Given the description of an element on the screen output the (x, y) to click on. 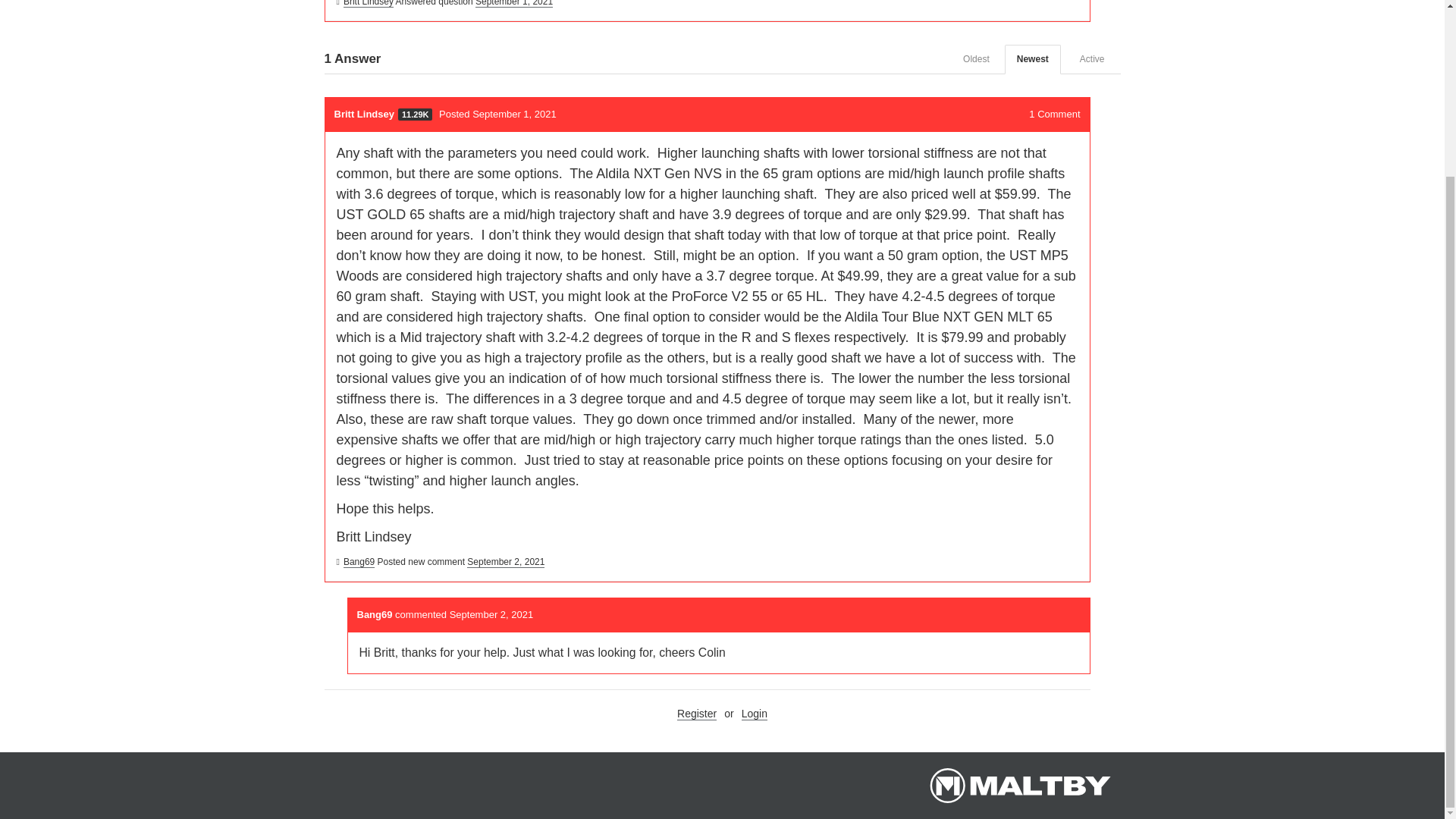
Reputation (414, 114)
Britt Lindsey (368, 3)
Ralph Maltby (1019, 785)
Active (1091, 59)
Bang69 (375, 614)
September 2, 2021 (505, 562)
September 1, 2021 (514, 3)
Register (696, 713)
Login (754, 713)
Britt Lindsey (363, 113)
